Given the description of an element on the screen output the (x, y) to click on. 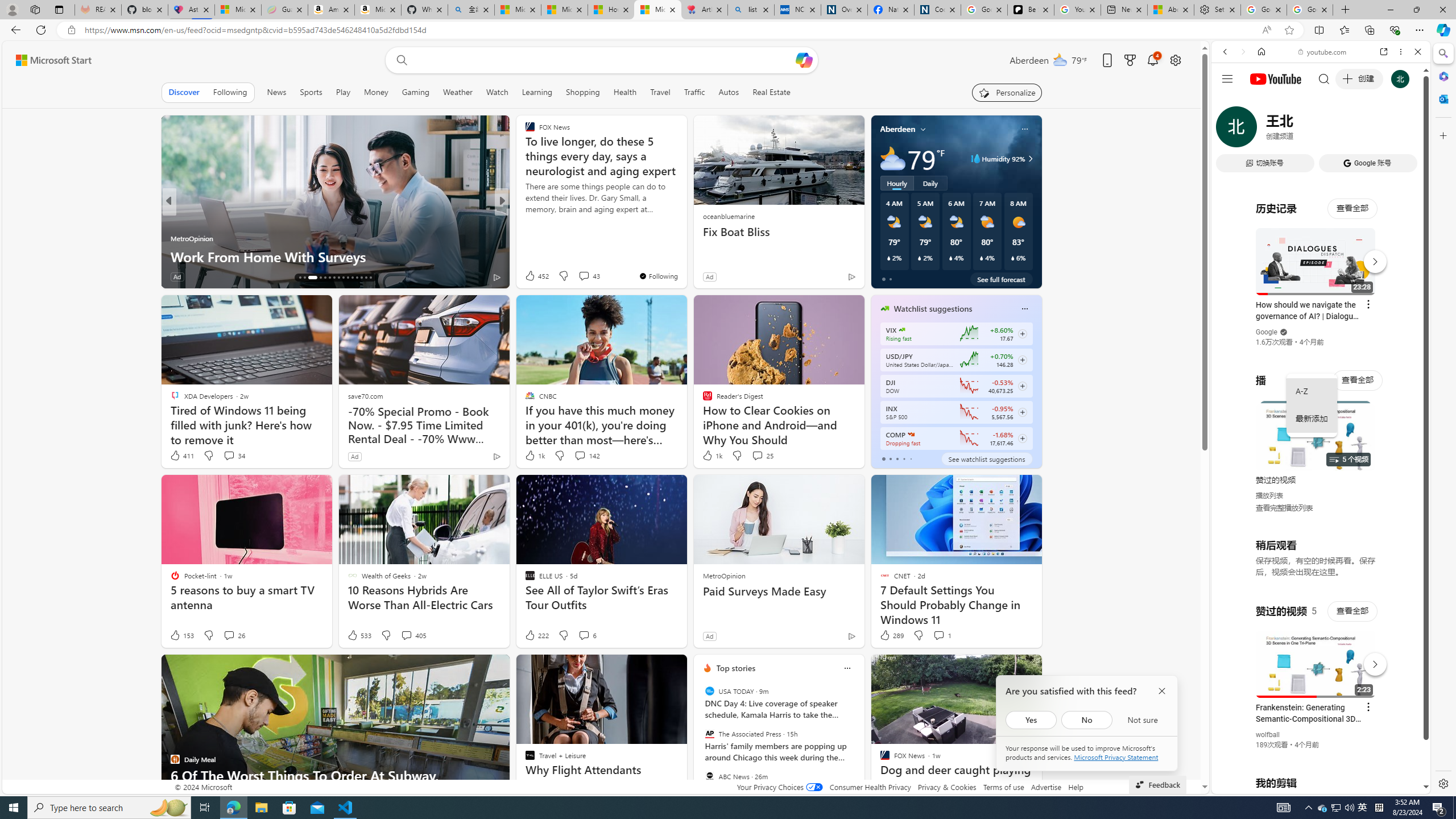
Aberdeen (897, 128)
182 Like (532, 276)
View comments 496 Comment (583, 276)
Shopping (583, 92)
View comments 58 Comment (582, 276)
Health (624, 92)
How I Got Rid of Microsoft Edge's Unnecessary Features (610, 9)
Real Estate (771, 92)
323 Like (532, 276)
